Given the description of an element on the screen output the (x, y) to click on. 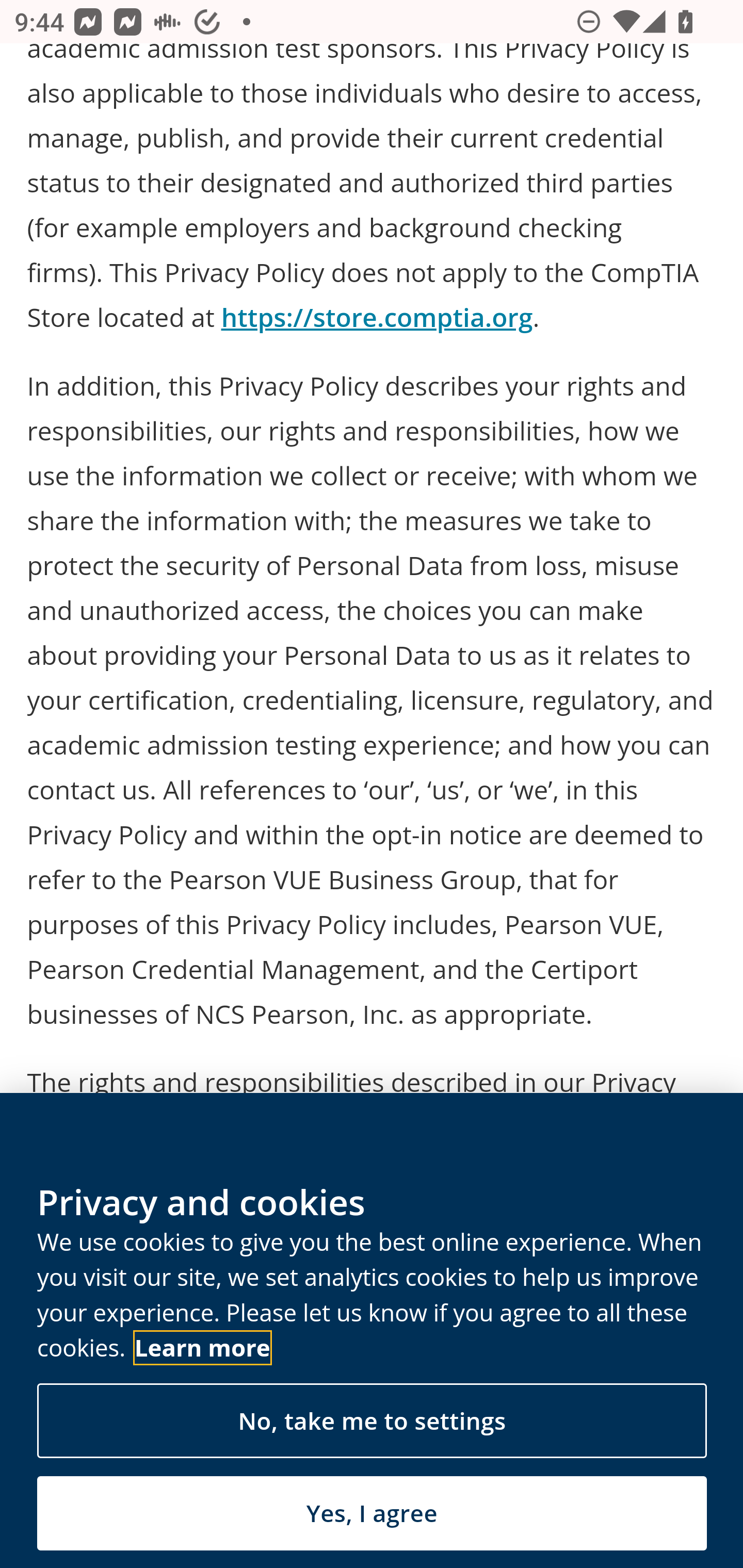
https://store.comptia.org (377, 318)
No, take me to settings (372, 1420)
Yes, I agree (372, 1514)
